Given the description of an element on the screen output the (x, y) to click on. 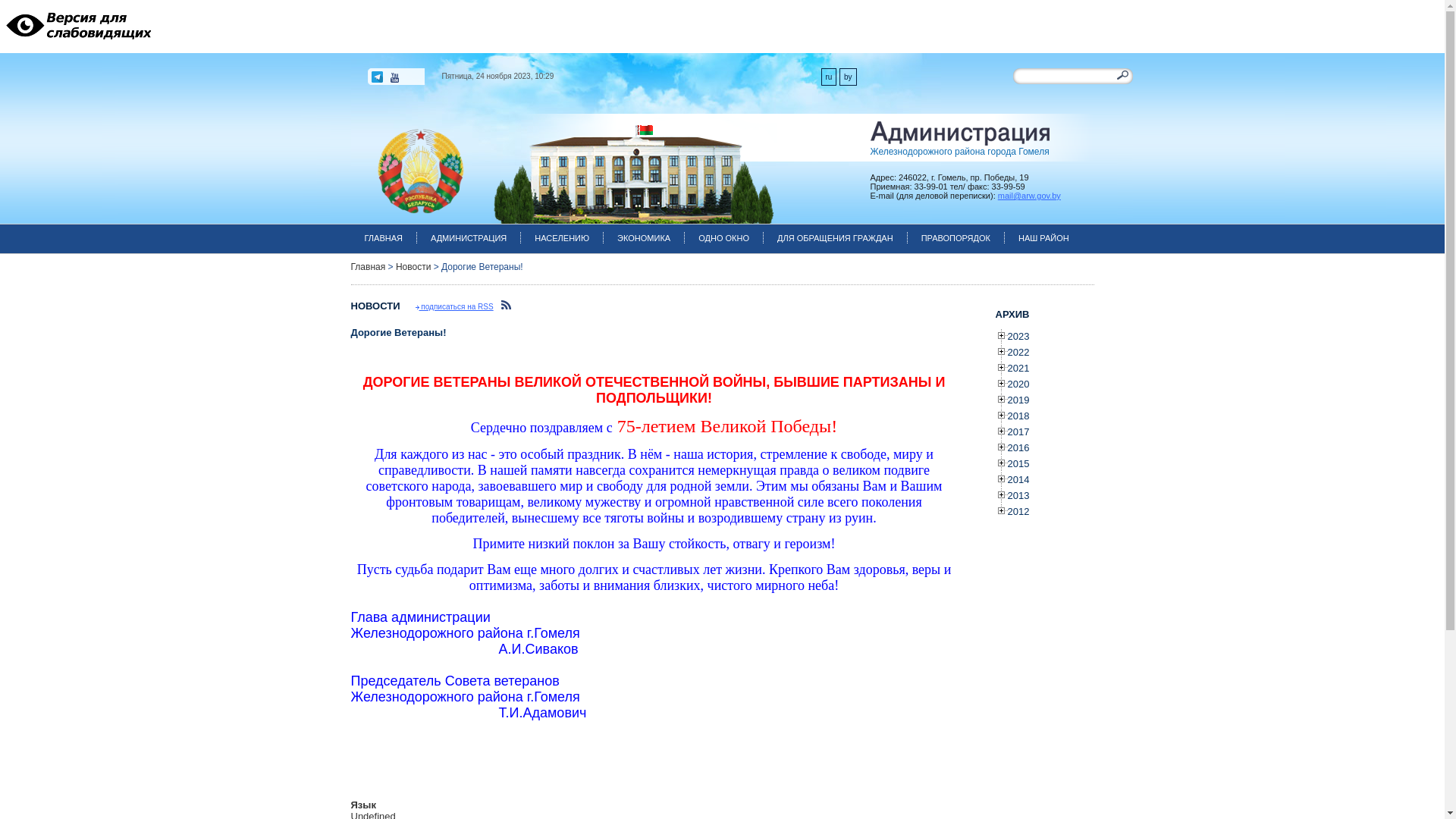
ru Element type: text (828, 76)
by Element type: text (847, 76)
mail@arw.gov.by Element type: text (1028, 195)
